Given the description of an element on the screen output the (x, y) to click on. 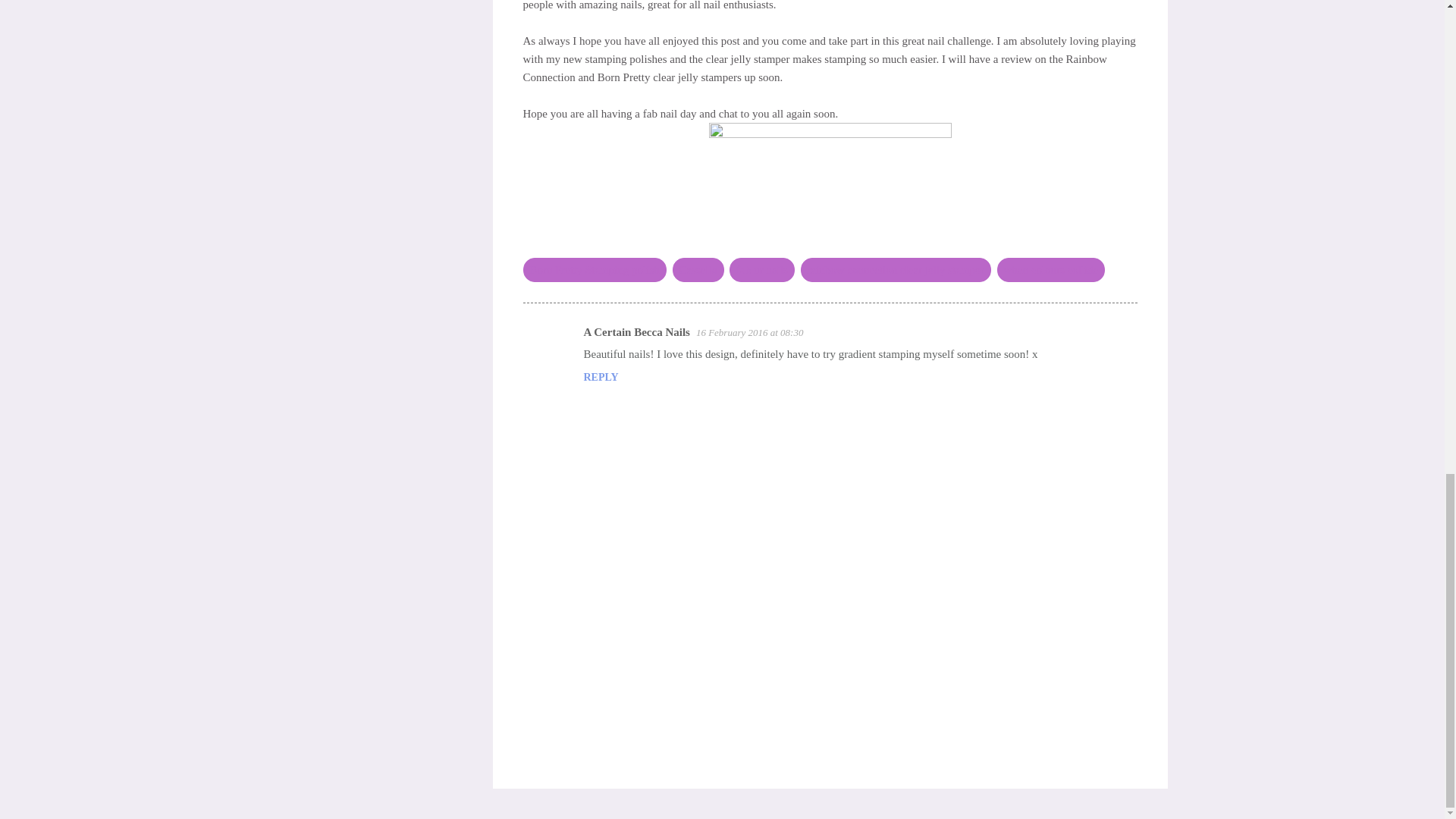
rainbow connection clear jelly stamper (895, 269)
A Certain Becca Nails (636, 331)
16 February 2016 at 08:30 (749, 332)
REPLY (600, 377)
when colours collide (1050, 269)
Born Pretty Stamping polish (594, 269)
fab ur nails (761, 269)
Cassella (697, 269)
